Given the description of an element on the screen output the (x, y) to click on. 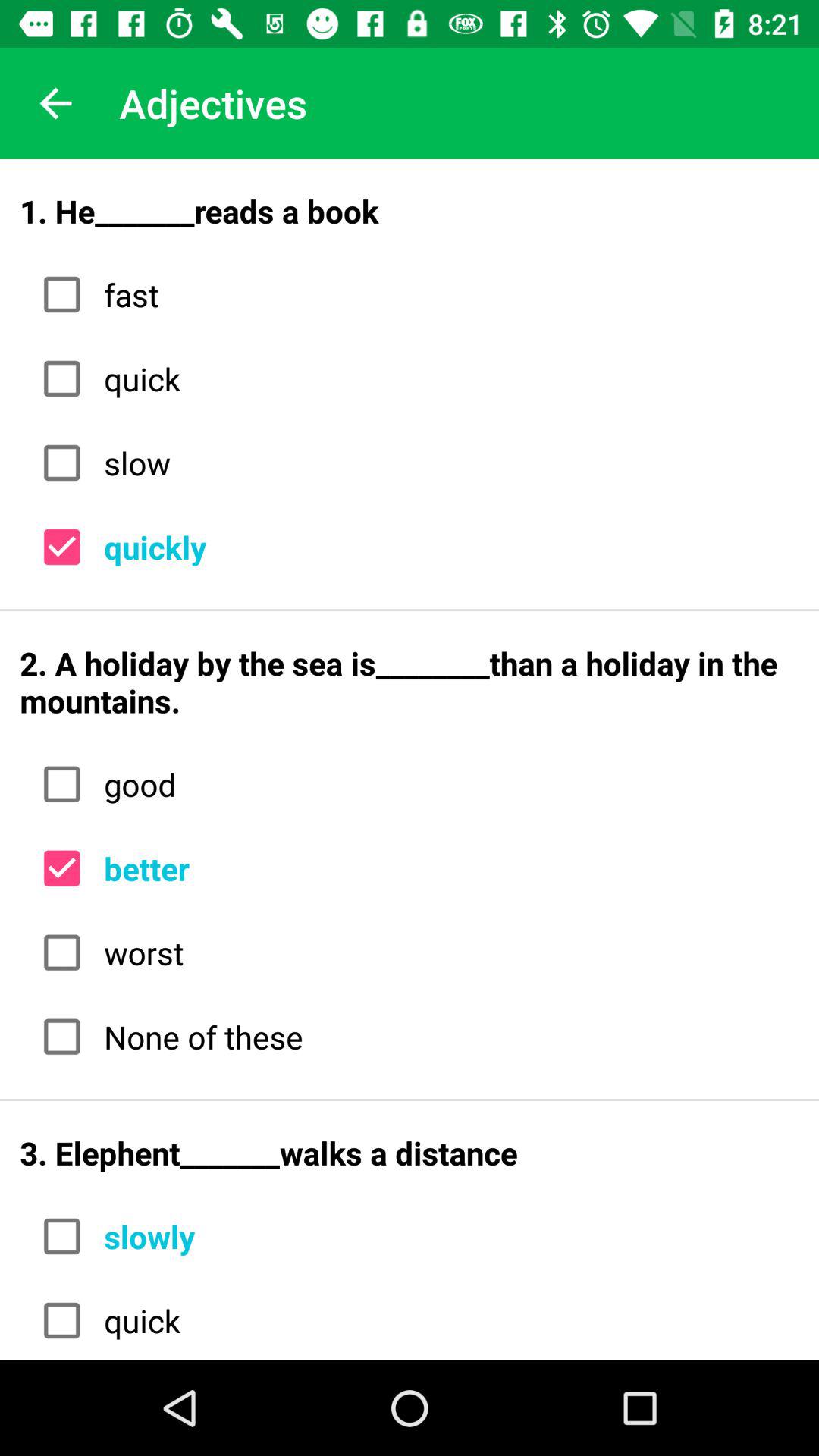
swipe to the slowly item (446, 1236)
